Given the description of an element on the screen output the (x, y) to click on. 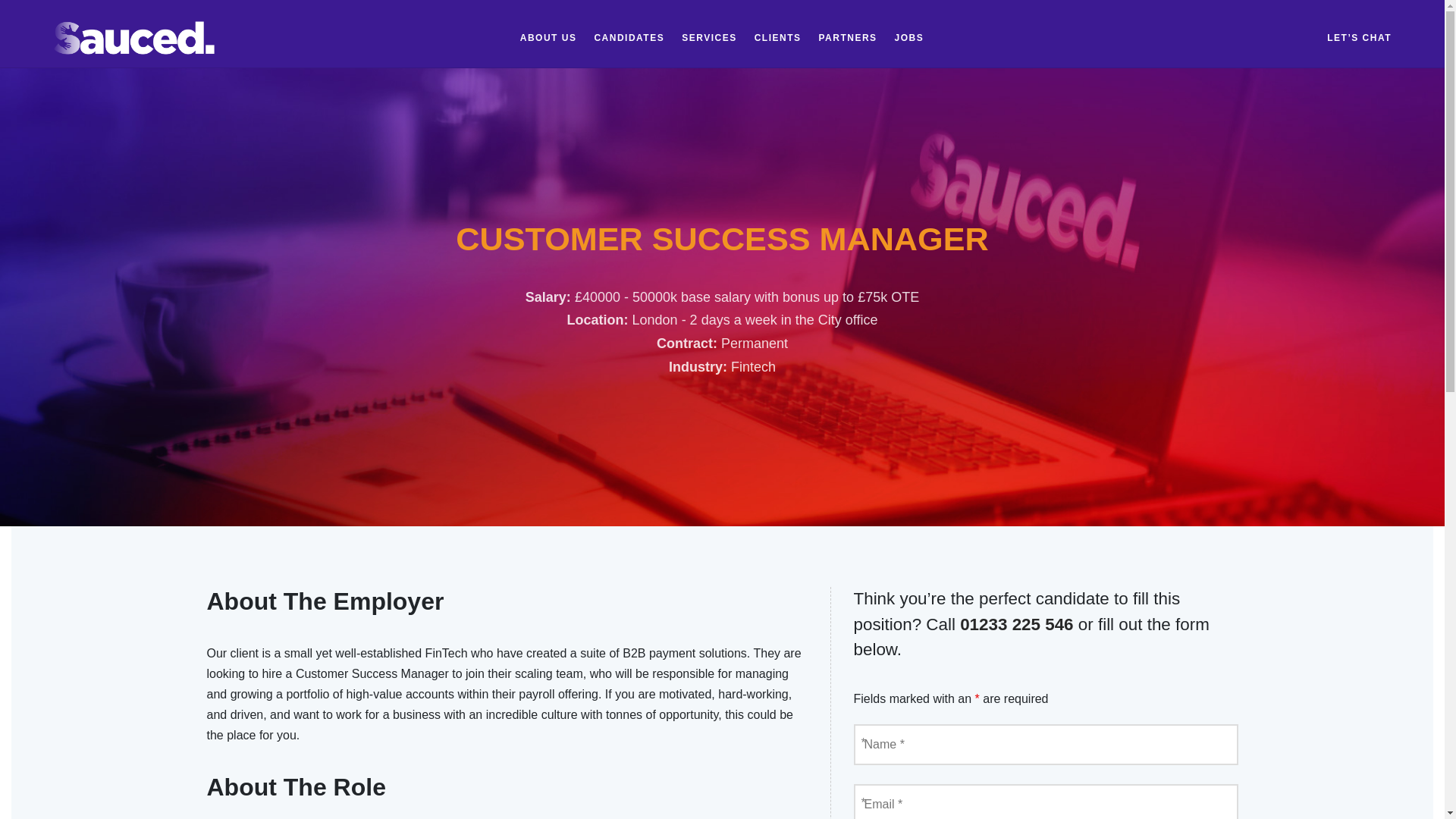
01233 225 546 (1016, 624)
ABOUT US (547, 37)
SERVICES (708, 37)
CANDIDATES (628, 37)
CLIENTS (778, 37)
PARTNERS (847, 37)
JOBS (909, 37)
